Given the description of an element on the screen output the (x, y) to click on. 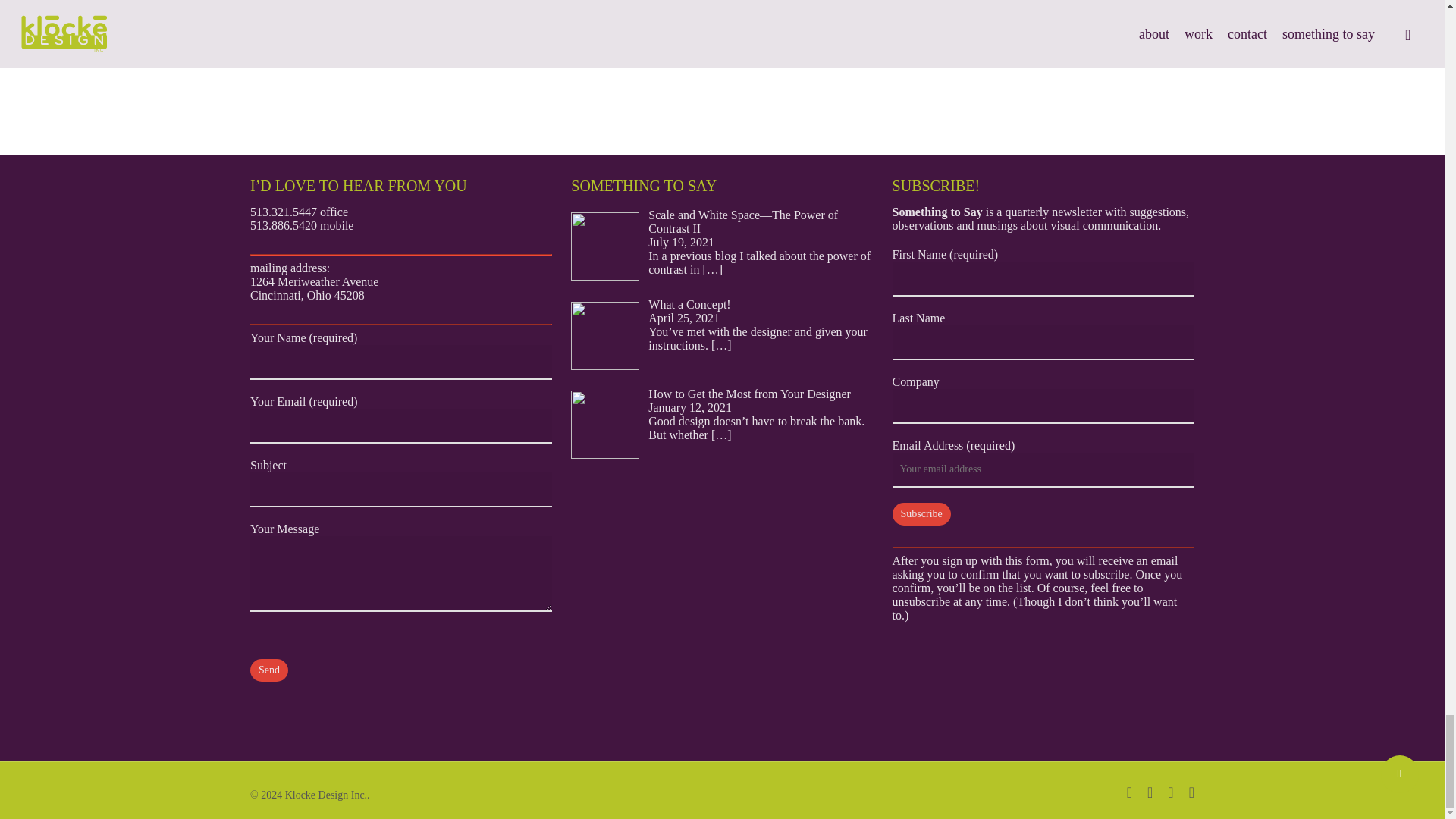
Send (269, 670)
Subscribe (921, 513)
Send (269, 670)
Submit Comment (387, 50)
Submit Comment (387, 50)
